Given the description of an element on the screen output the (x, y) to click on. 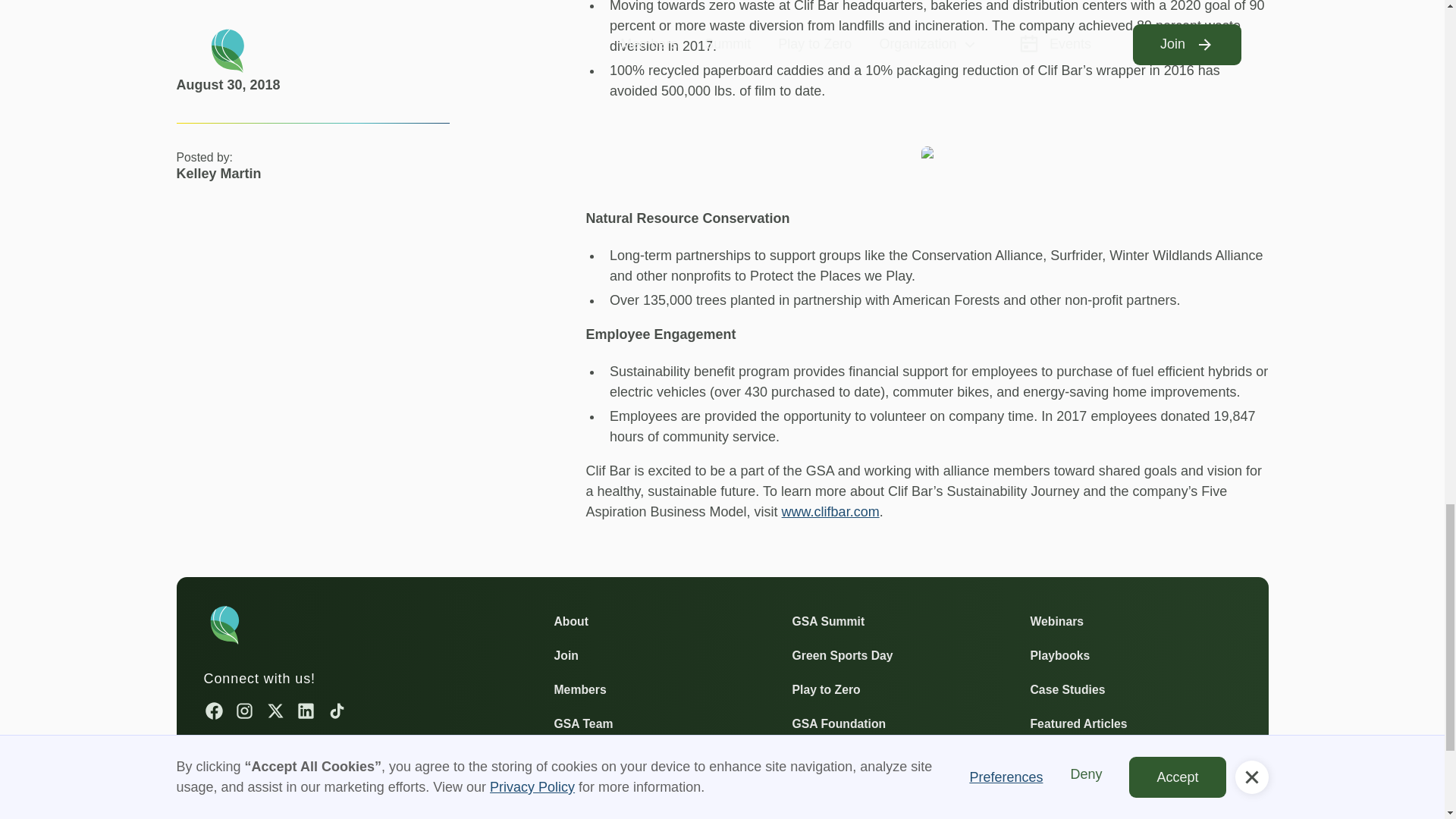
www.clifbar.com (830, 510)
About (570, 620)
Members (579, 689)
GSA Team (582, 722)
Join (565, 654)
